Given the description of an element on the screen output the (x, y) to click on. 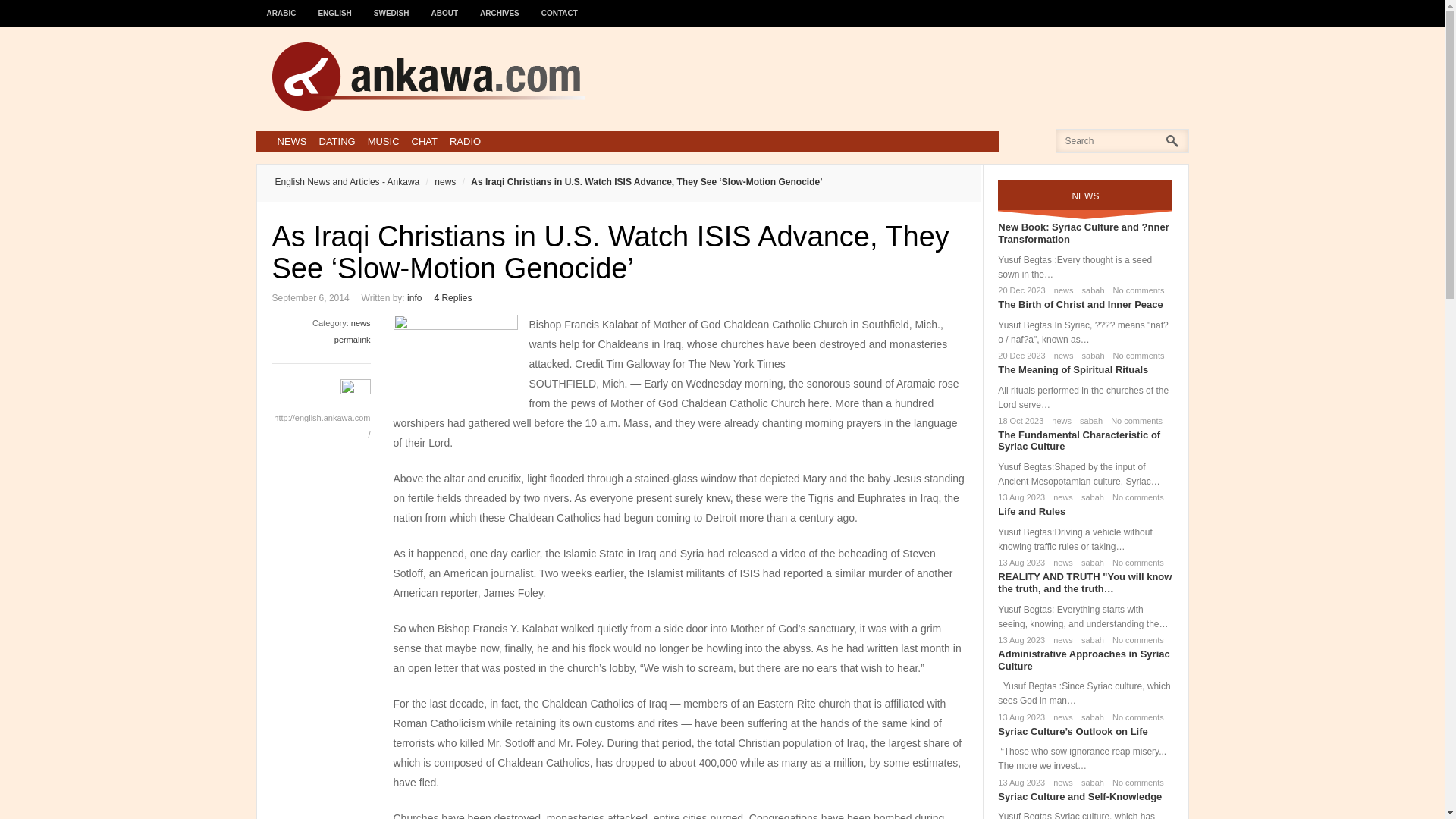
sabah (1089, 497)
news (1061, 289)
No comments (1133, 420)
English News and Articles - Ankawa (347, 181)
ENGLISH (334, 5)
sabah (1090, 289)
4 Replies (452, 297)
news (1058, 420)
The Meaning of Spiritual Rituals (1072, 369)
news (360, 322)
